Given the description of an element on the screen output the (x, y) to click on. 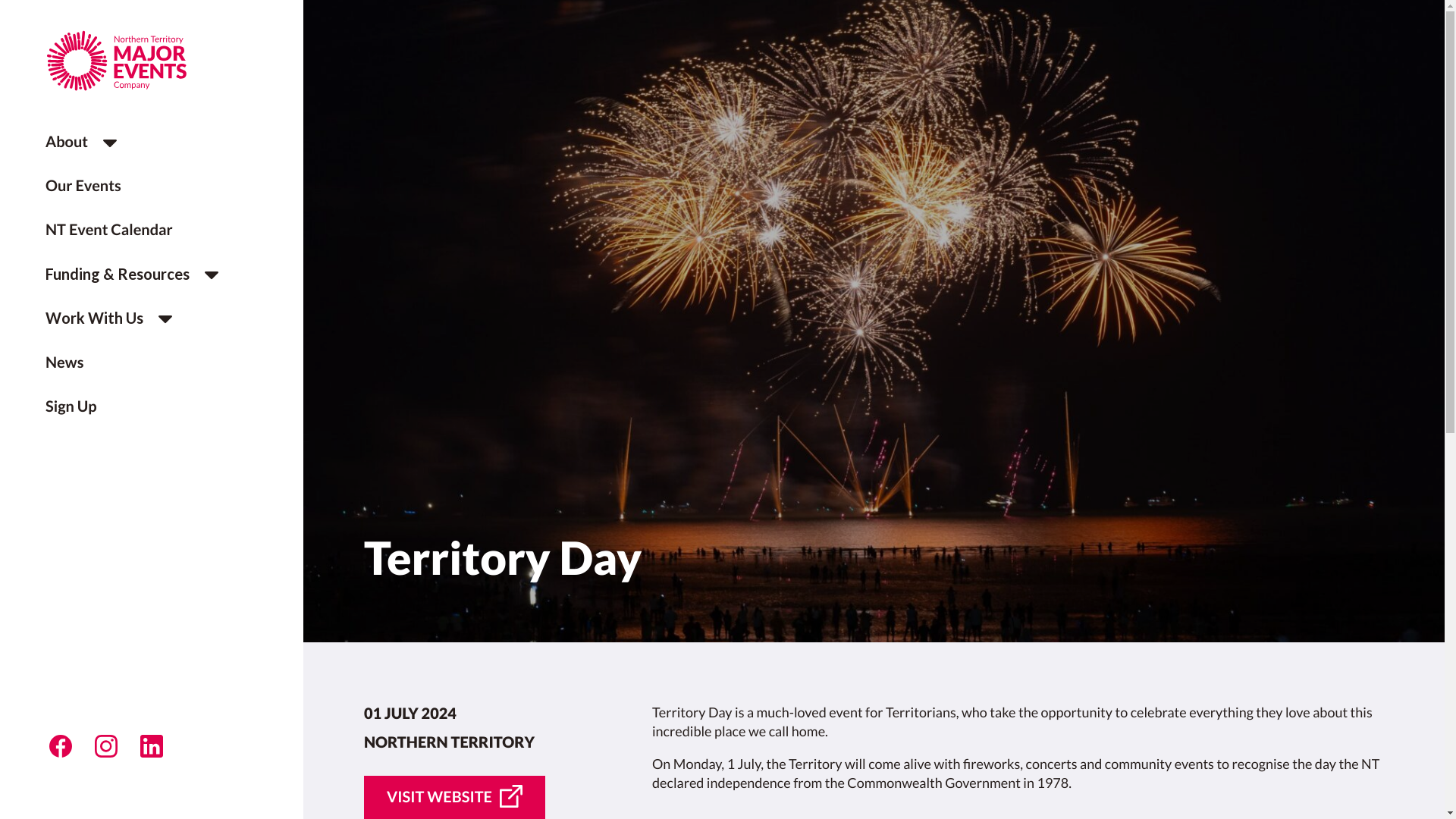
Northern Territory Major Events Logo Element type: text (147, 60)
Northern Territory Major Events Facebook Link Element type: text (60, 746)
Our Events Element type: text (83, 185)
Click to expand the panel Element type: text (105, 141)
Northern Territory Major Events Instagram Link Element type: text (106, 746)
About Element type: text (66, 141)
NT Event Calendar Element type: text (108, 229)
Click to expand the panel
Funding & Resources Element type: text (135, 273)
Northern Territory Major Events LinkedIn Link Element type: text (151, 746)
Click to expand the panel
Work With Us Element type: text (112, 317)
News Element type: text (64, 362)
Sign Up Element type: text (71, 406)
